Given the description of an element on the screen output the (x, y) to click on. 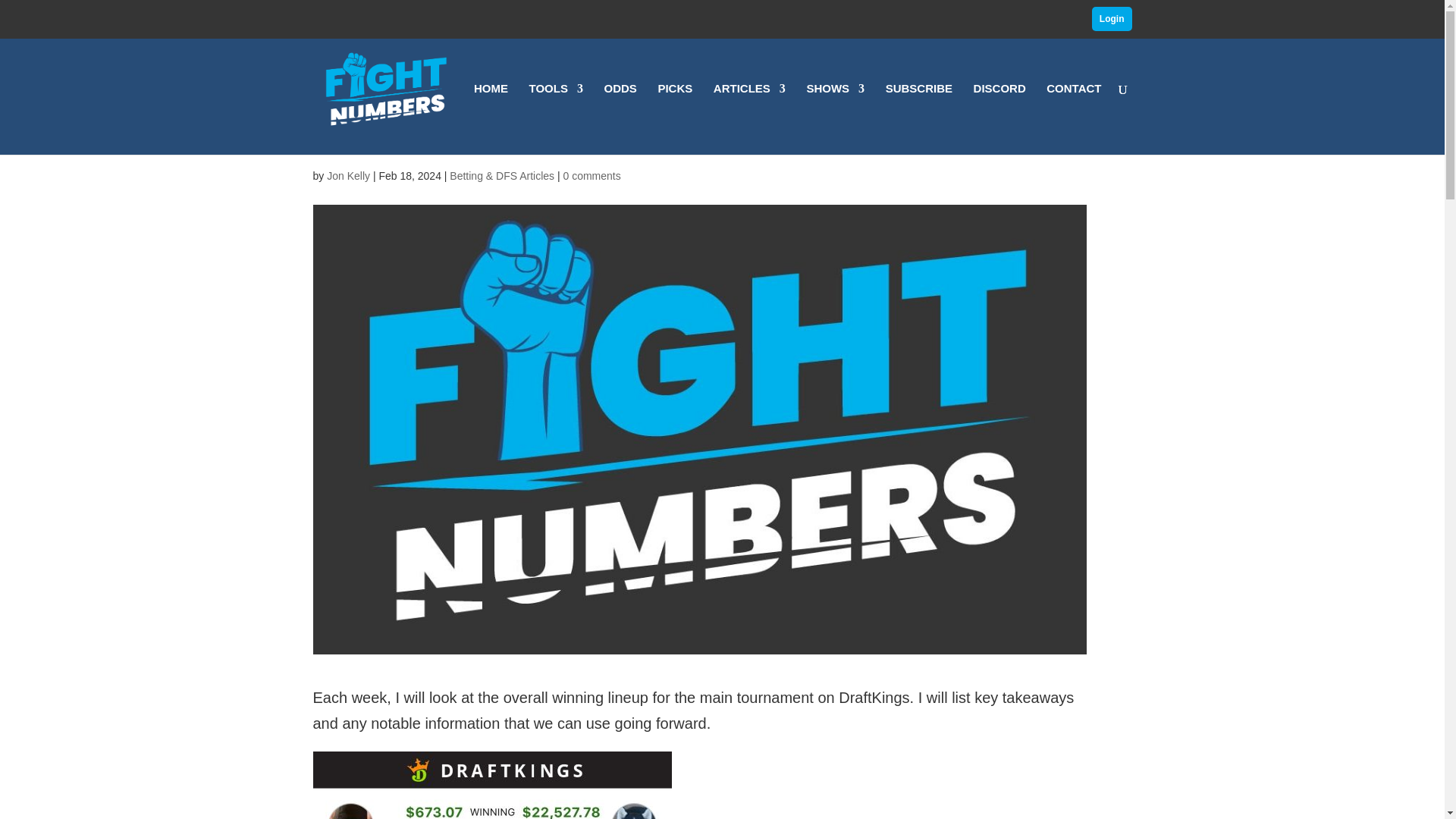
ARTICLES (749, 118)
SUBSCRIBE (918, 118)
0 comments (591, 175)
Jon Kelly (347, 175)
Posts by Jon Kelly (347, 175)
Login (1112, 18)
